Given the description of an element on the screen output the (x, y) to click on. 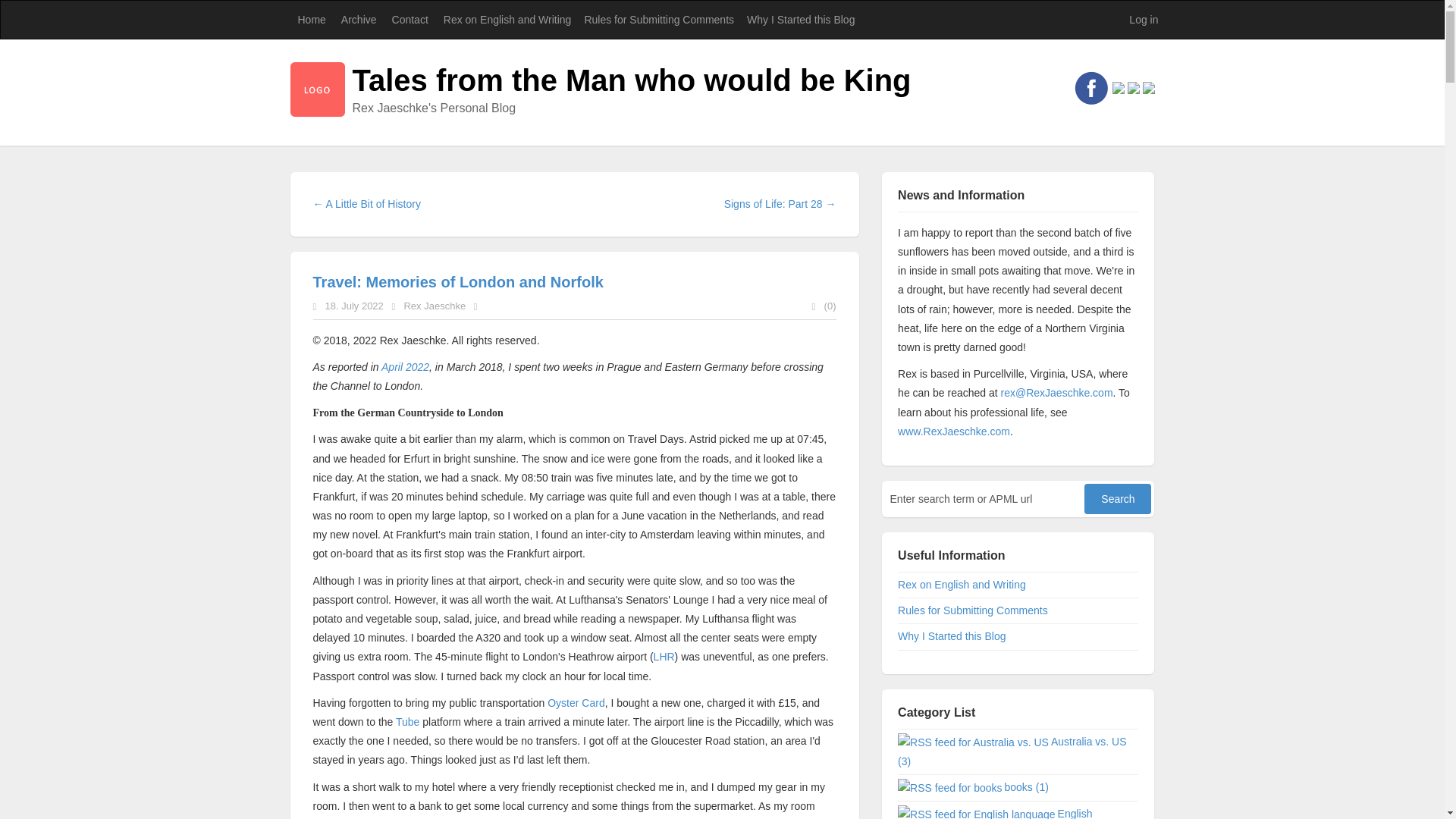
Category: books (1026, 787)
Rex on English and Writing (505, 19)
Home (311, 19)
April 2022 (405, 367)
Rex Jaeschke (434, 306)
Log in (1143, 19)
Enter search term or APML url (983, 499)
Travel: Memories of London and Norfolk (457, 281)
Rules for Submitting Comments (657, 19)
Search (1117, 499)
Contact (409, 19)
Tube (407, 721)
Category: English language (995, 813)
Oyster Card (575, 702)
LHR (664, 656)
